Given the description of an element on the screen output the (x, y) to click on. 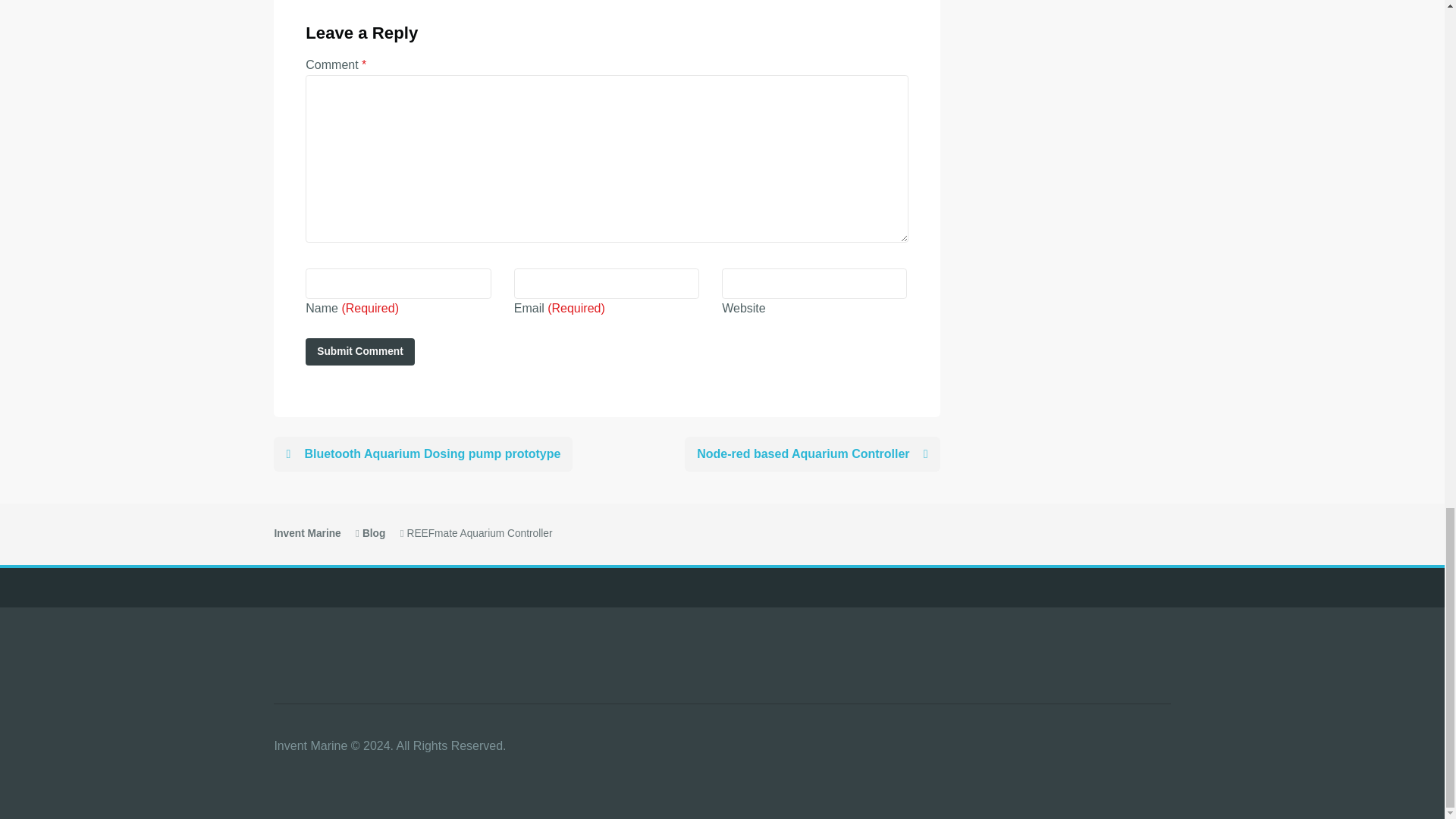
Bluetooth Aquarium Dosing pump prototype (422, 453)
Blog (373, 532)
Submit Comment (359, 352)
Blog (373, 532)
Invent Marine (306, 532)
Invent Marine (306, 532)
Node-red based Aquarium Controller (811, 453)
Submit Comment (359, 352)
